Given the description of an element on the screen output the (x, y) to click on. 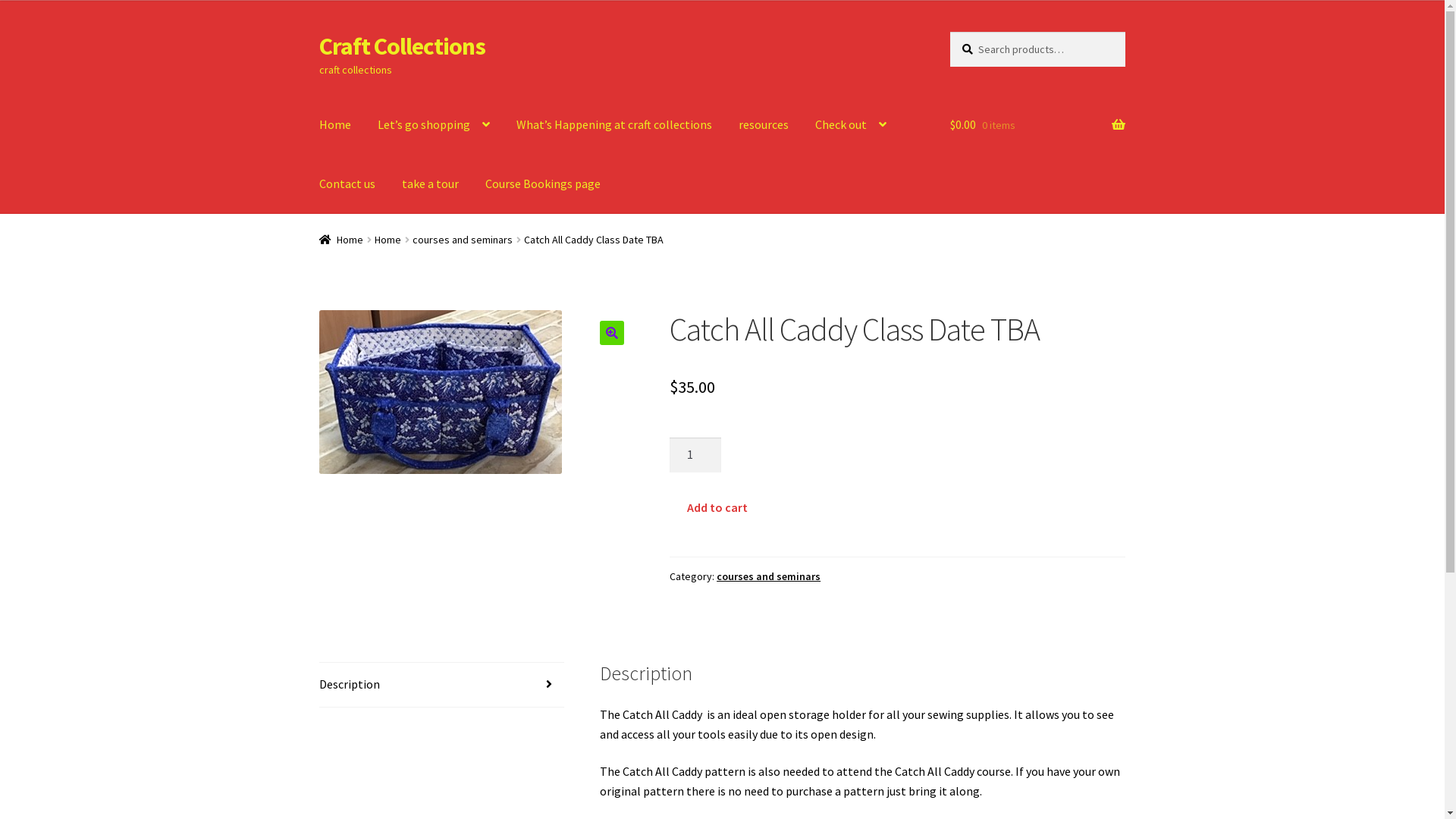
Home Element type: text (387, 239)
Description Element type: text (441, 684)
courses and seminars Element type: text (768, 576)
take a tour Element type: text (429, 183)
Home Element type: text (341, 239)
Check out Element type: text (850, 124)
$0.00 0 items Element type: text (1037, 124)
Add to cart Element type: text (716, 507)
Home Element type: text (335, 124)
Course Bookings page Element type: text (542, 183)
Contact us Element type: text (347, 183)
Qty Element type: hover (695, 454)
Skip to navigation Element type: text (318, 31)
courses and seminars Element type: text (462, 239)
Search Element type: text (949, 31)
resources Element type: text (763, 124)
catch all caddy Element type: hover (440, 391)
Craft Collections Element type: text (402, 46)
